Given the description of an element on the screen output the (x, y) to click on. 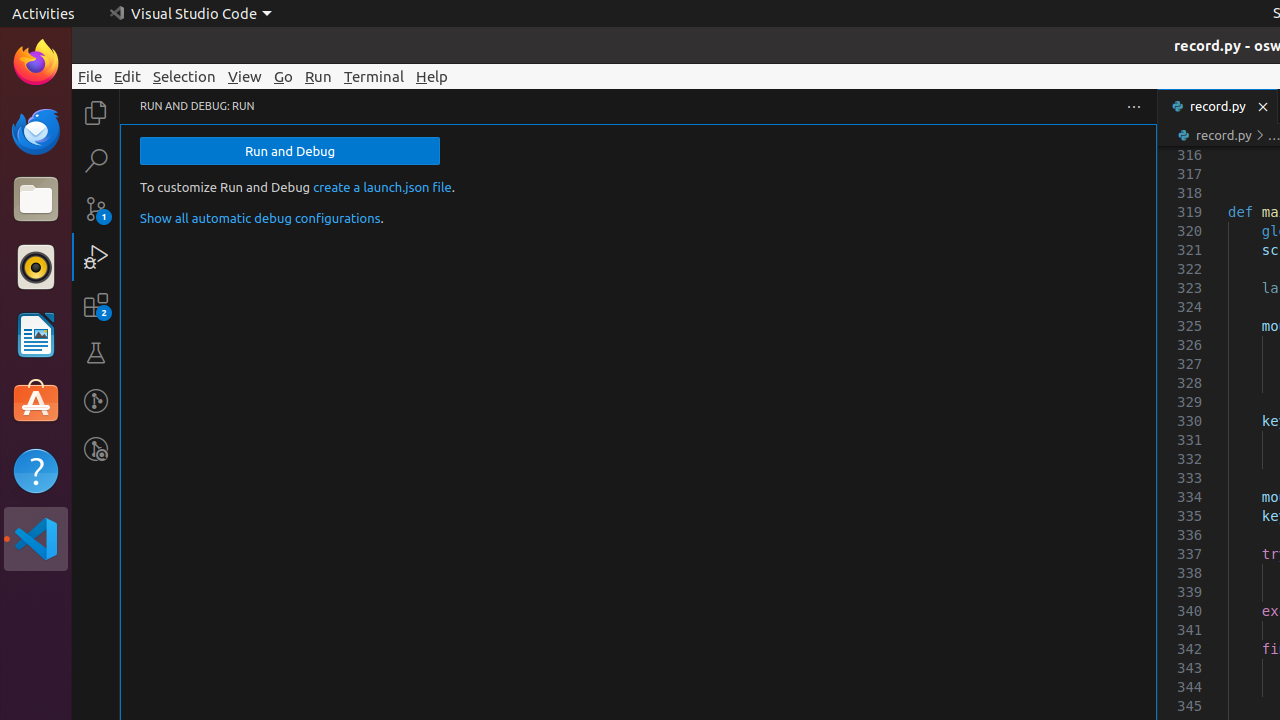
Edit Element type: push-button (127, 76)
Run and Debug (Ctrl+Shift+D) Element type: page-tab (96, 257)
Selection Element type: push-button (184, 76)
Testing Element type: page-tab (96, 353)
Terminal Element type: push-button (374, 76)
